Given the description of an element on the screen output the (x, y) to click on. 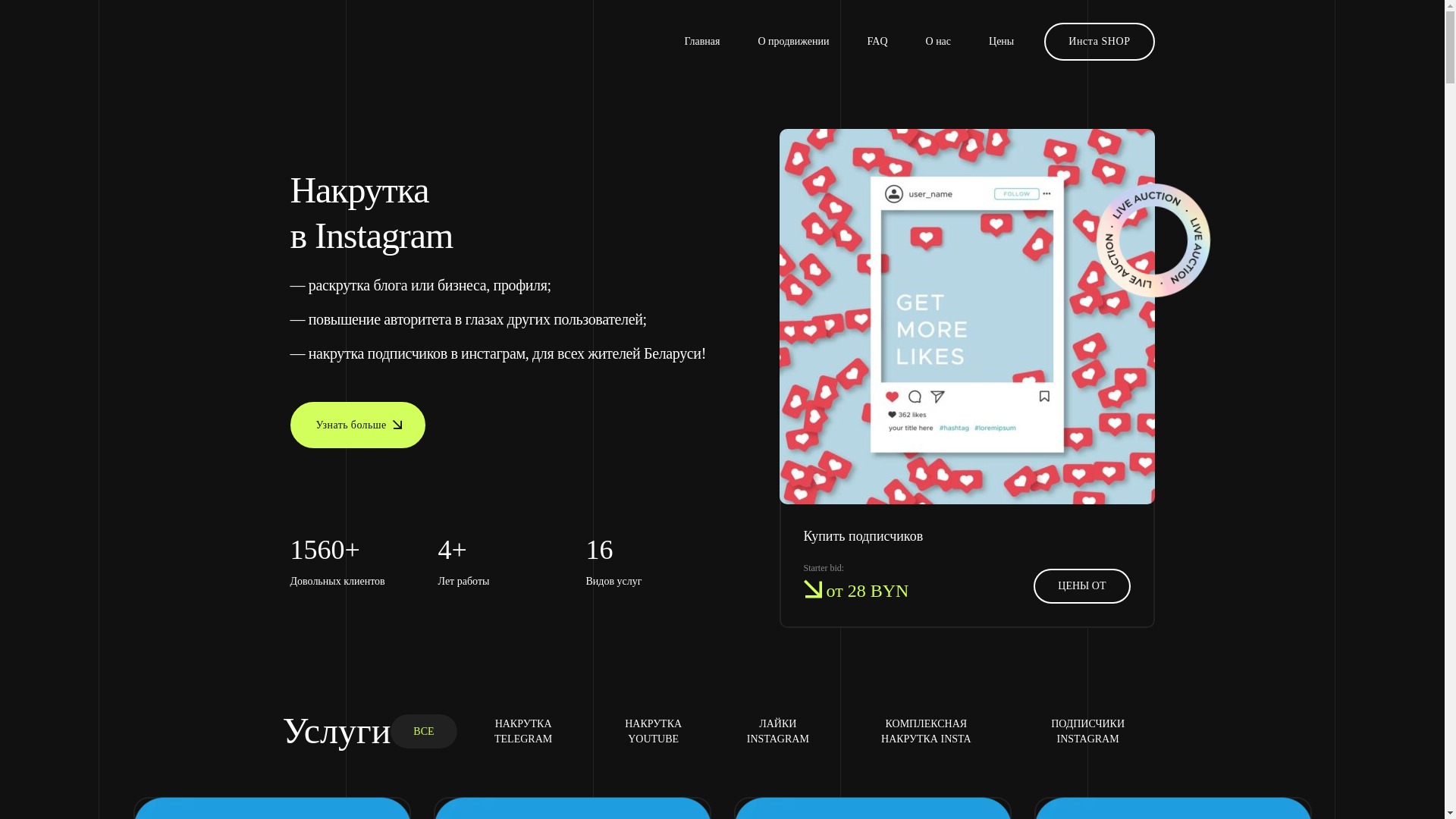
129 Element type: hover (966, 316)
FAQ Element type: text (877, 41)
